Given the description of an element on the screen output the (x, y) to click on. 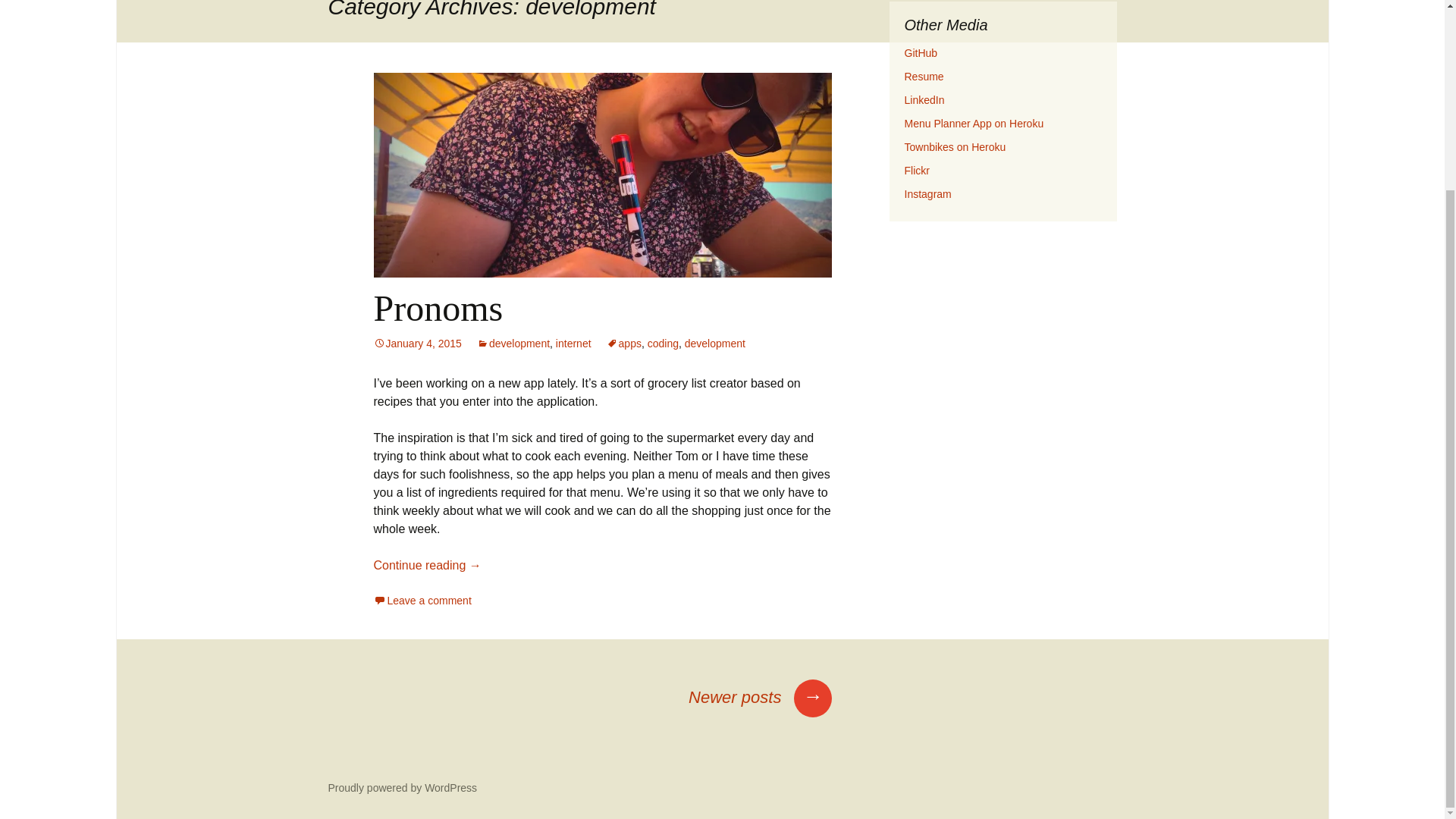
January 4, 2015 (416, 343)
Menu Planner App on Heroku (973, 123)
LinkedIn (923, 100)
development (714, 343)
Resume (923, 76)
Instagram (927, 193)
Proudly powered by WordPress (402, 787)
development (513, 343)
Leave a comment (421, 600)
Resume (923, 76)
